Given the description of an element on the screen output the (x, y) to click on. 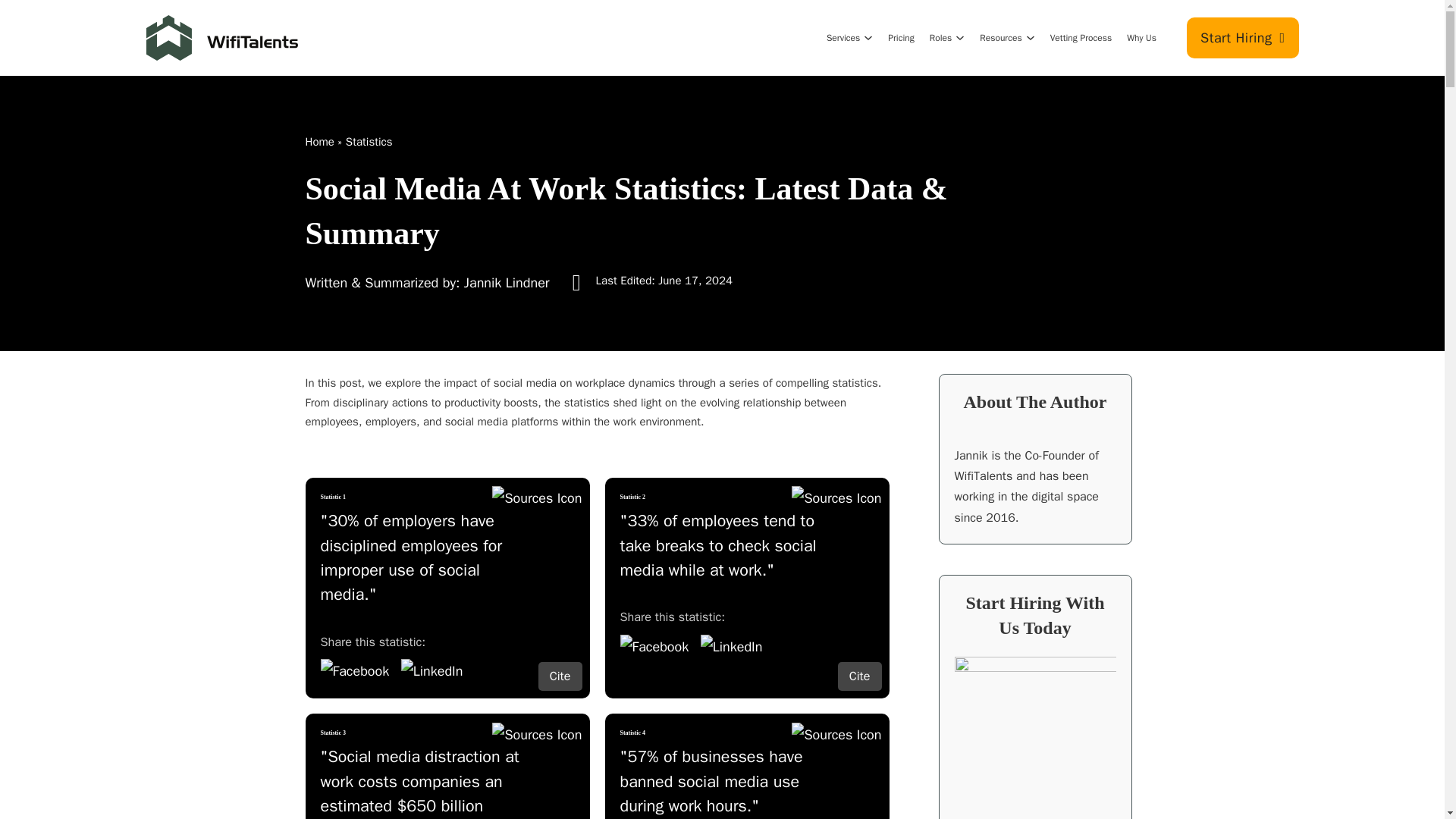
Vetting Process (1080, 37)
Why Us (1141, 37)
Pricing (901, 37)
